Given the description of an element on the screen output the (x, y) to click on. 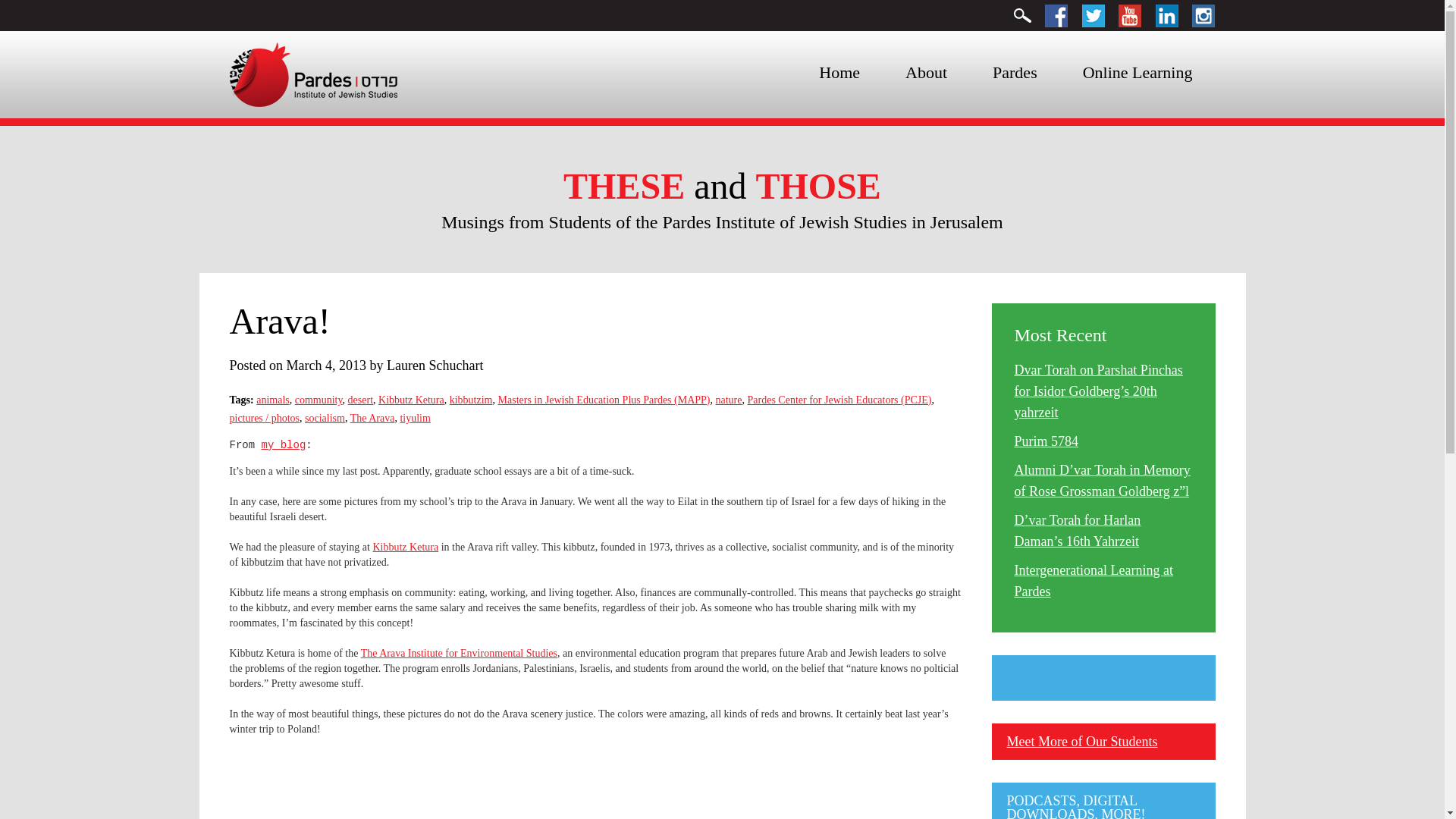
animals (272, 399)
Intergenerational Learning at Pardes (1093, 580)
socialism (324, 418)
nature (729, 399)
desert (359, 399)
my blog (283, 444)
Kibbutz Ketura (411, 399)
Pardes (1014, 72)
The Arava (372, 418)
kibbutzim (471, 399)
The Arava Institute for Environmental Studies (459, 653)
Online Learning (1137, 72)
About (925, 72)
Kibbutz Ketura (405, 546)
Home (839, 72)
